Given the description of an element on the screen output the (x, y) to click on. 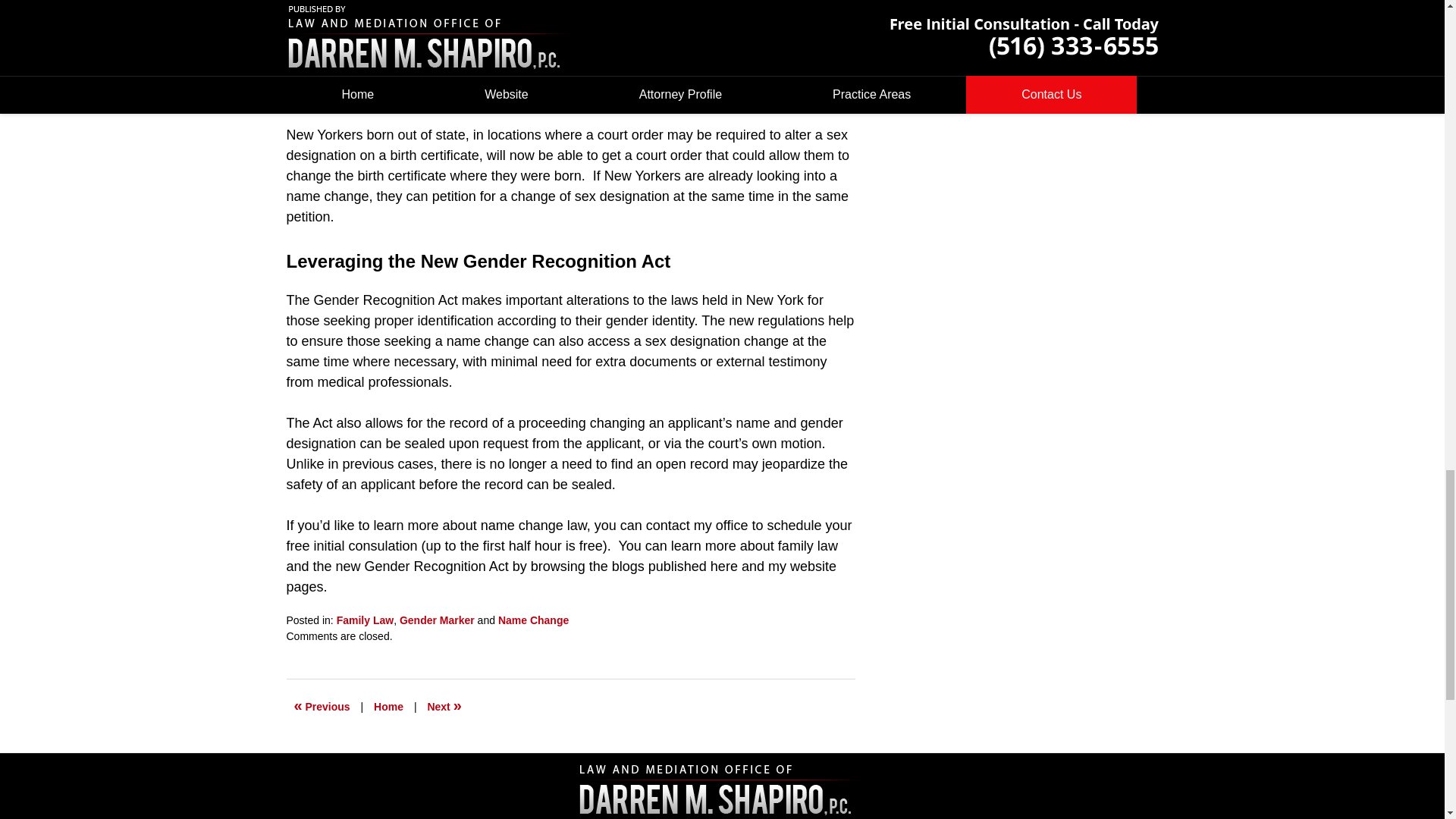
Gender Marker (436, 620)
The Changes To the Child Support Income Cap in New York (443, 706)
View all posts in Gender Marker (436, 620)
Family Law (364, 620)
Home (388, 706)
Name Change (533, 620)
View all posts in Name Change (533, 620)
View all posts in Family Law (364, 620)
Name Change Law Latest Amendments in New York (322, 706)
